Given the description of an element on the screen output the (x, y) to click on. 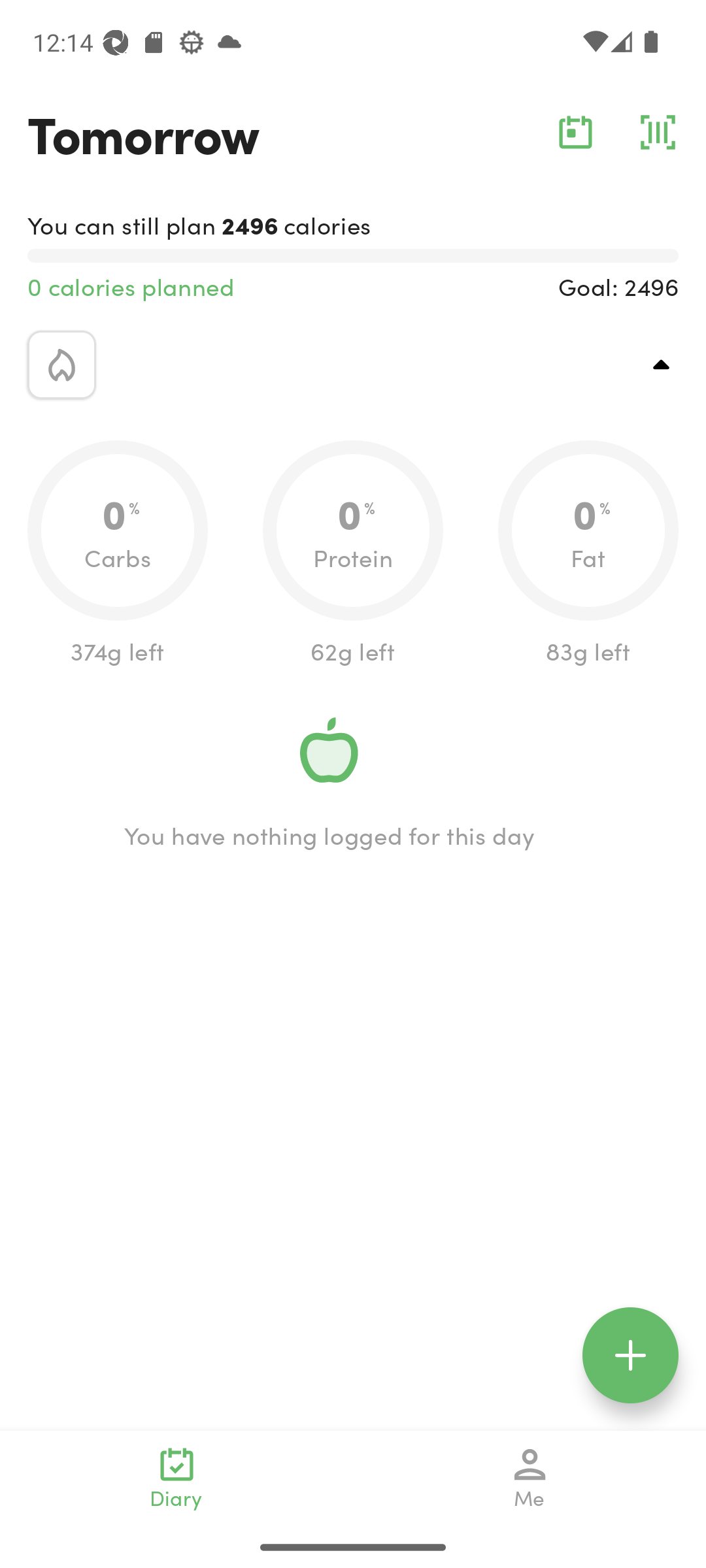
calendar_action (575, 132)
barcode_action (658, 132)
calorie_icon (62, 365)
top_right_action (661, 365)
0.0 0 % Carbs 374g left (117, 553)
0.0 0 % Protein 62g left (352, 553)
0.0 0 % Fat 83g left (588, 553)
floating_action_icon (630, 1355)
Me navigation_icon (529, 1478)
